Given the description of an element on the screen output the (x, y) to click on. 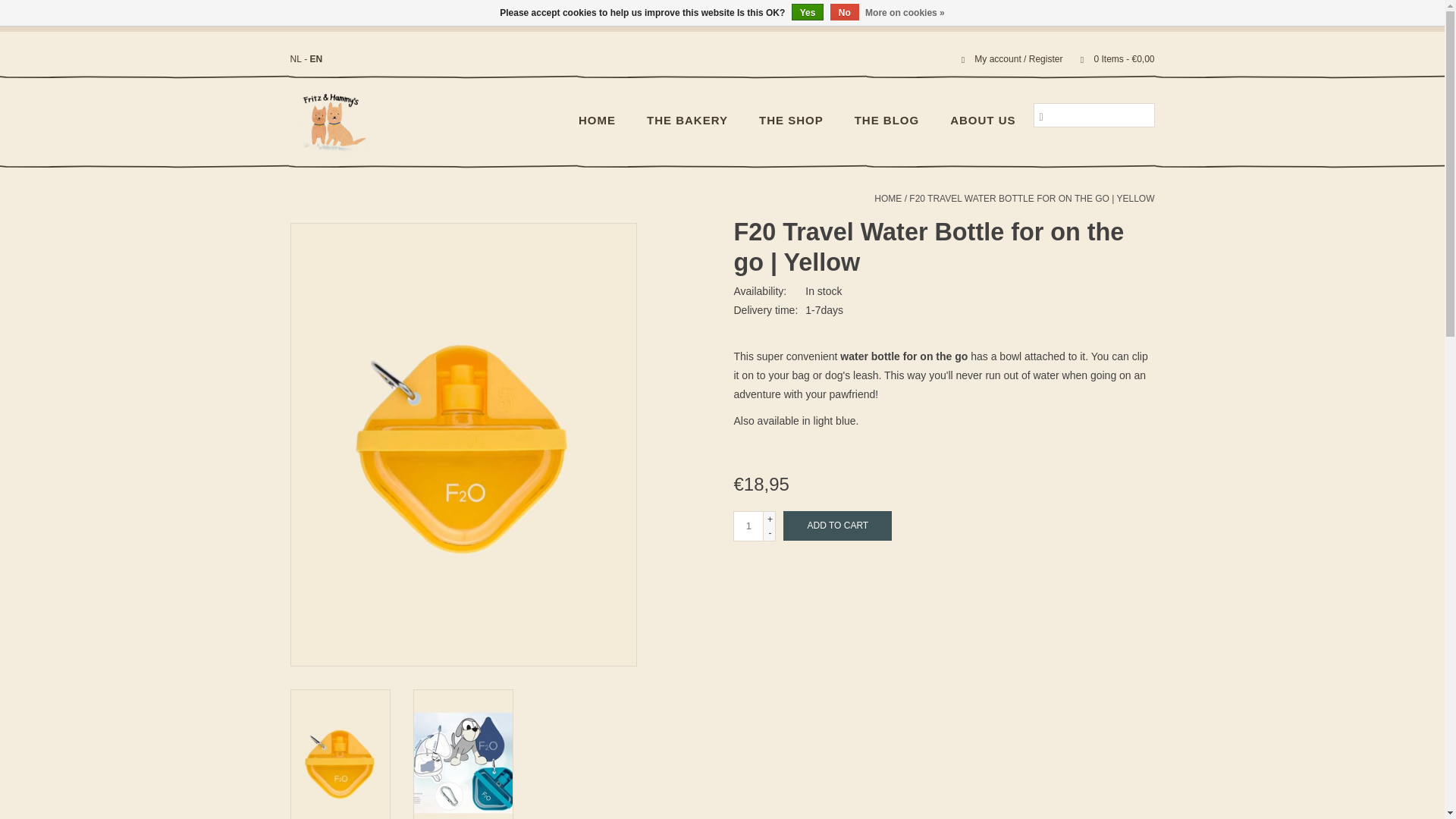
THE BAKERY (687, 120)
Cart (1109, 59)
English (316, 59)
My account (1005, 59)
HOME (597, 120)
THE SHOP (790, 120)
The Doggy Shop and Bakery ! (337, 120)
The Shop (790, 120)
The Bakery (687, 120)
EN (316, 59)
